Given the description of an element on the screen output the (x, y) to click on. 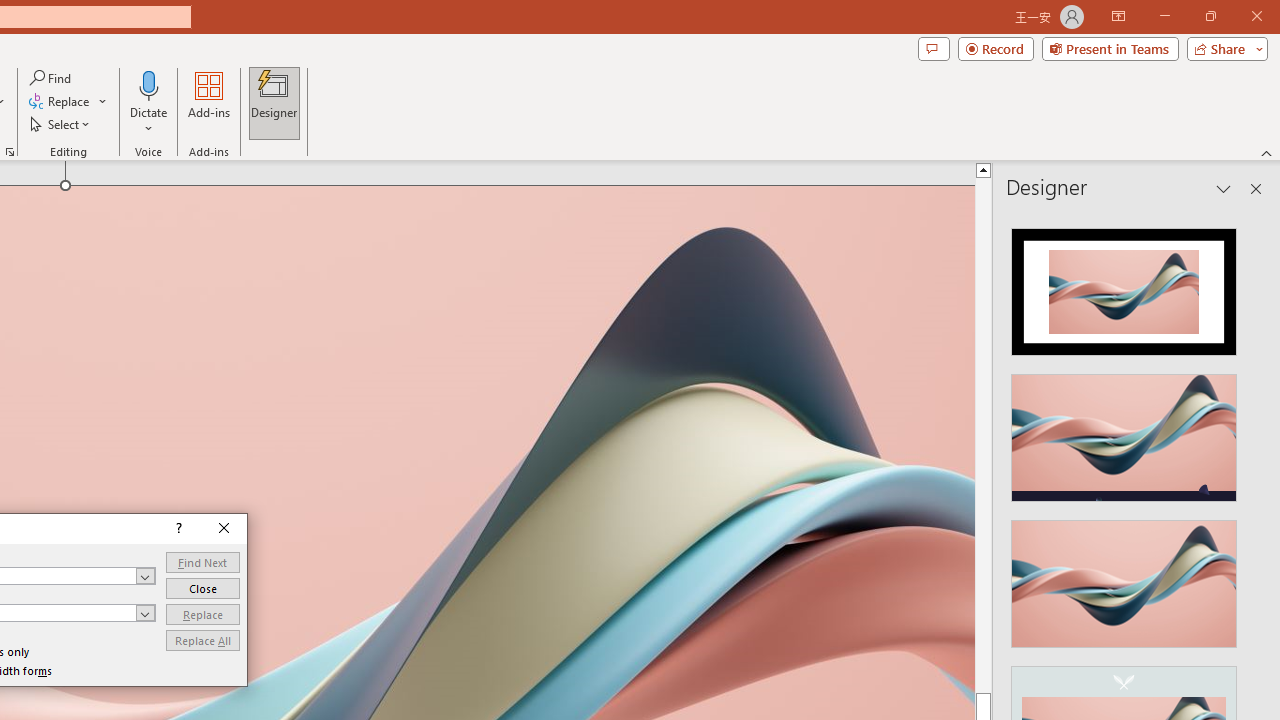
Context help (176, 529)
